Given the description of an element on the screen output the (x, y) to click on. 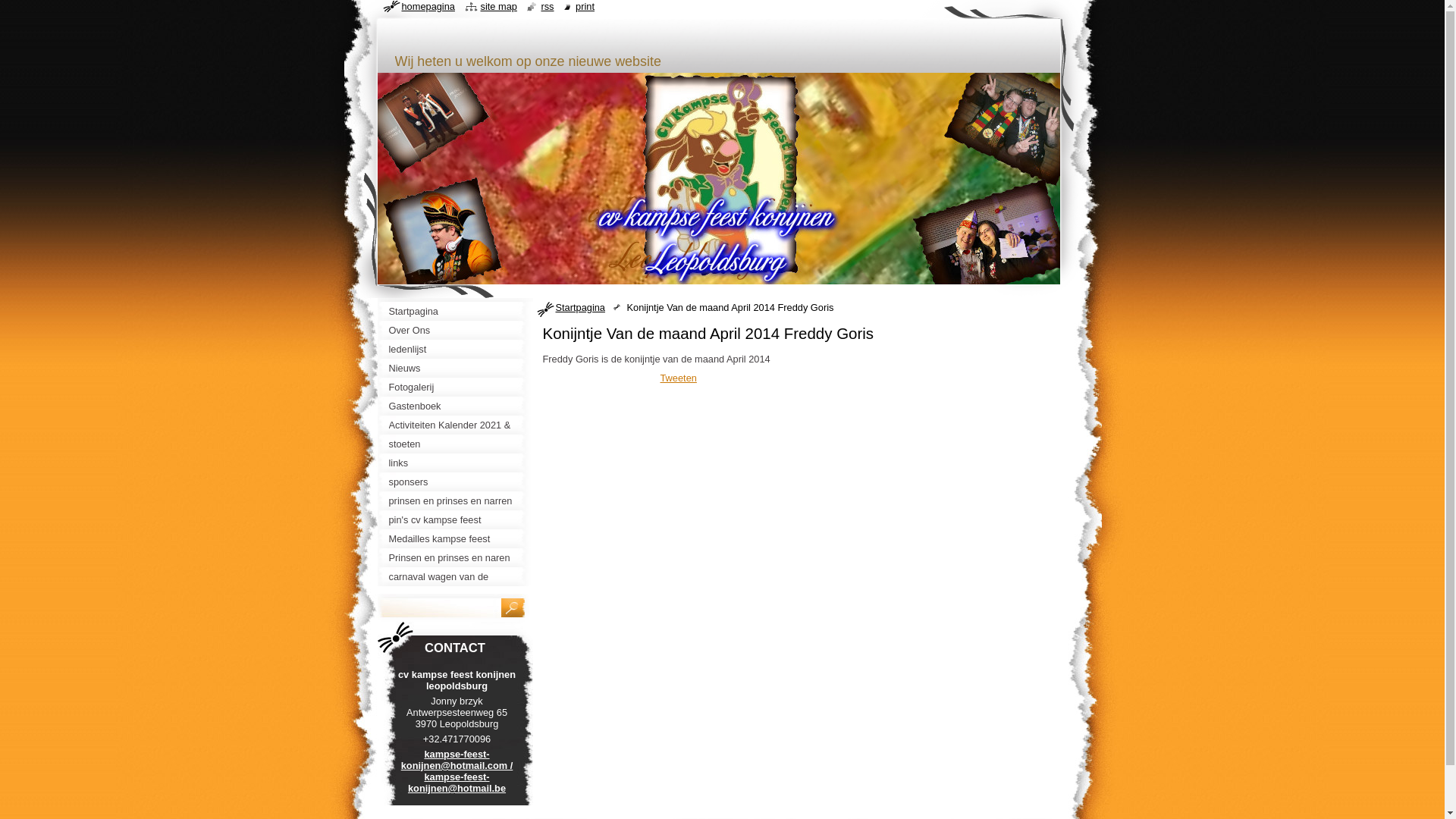
stoeten Element type: text (455, 443)
homepagina Element type: text (418, 6)
Over Ons Element type: text (455, 329)
prinsen en prinses en narren en mascot Element type: text (455, 500)
print Element type: text (579, 6)
Gastenboek Element type: text (455, 405)
Prinsen en prinses en naren en mascot breuken Element type: text (455, 557)
sponsers Element type: text (455, 481)
Startpagina Element type: text (455, 310)
Startpagina Element type: text (583, 307)
Medailles kampse feest konijnen Element type: text (455, 538)
Tweeten Element type: text (677, 377)
ledenlijst Element type: text (455, 348)
links Element type: text (455, 462)
Ga naar homepagina Element type: hover (578, 37)
Fotogalerij Element type: text (455, 386)
carnaval wagen van de kampse feest konijnen Element type: text (455, 576)
Nieuws Element type: text (455, 367)
pin's cv kampse feest konijnen Element type: text (455, 519)
rss Element type: text (540, 6)
site map Element type: text (491, 6)
Activiteiten Kalender 2021 & 2022 Element type: text (455, 424)
